Given the description of an element on the screen output the (x, y) to click on. 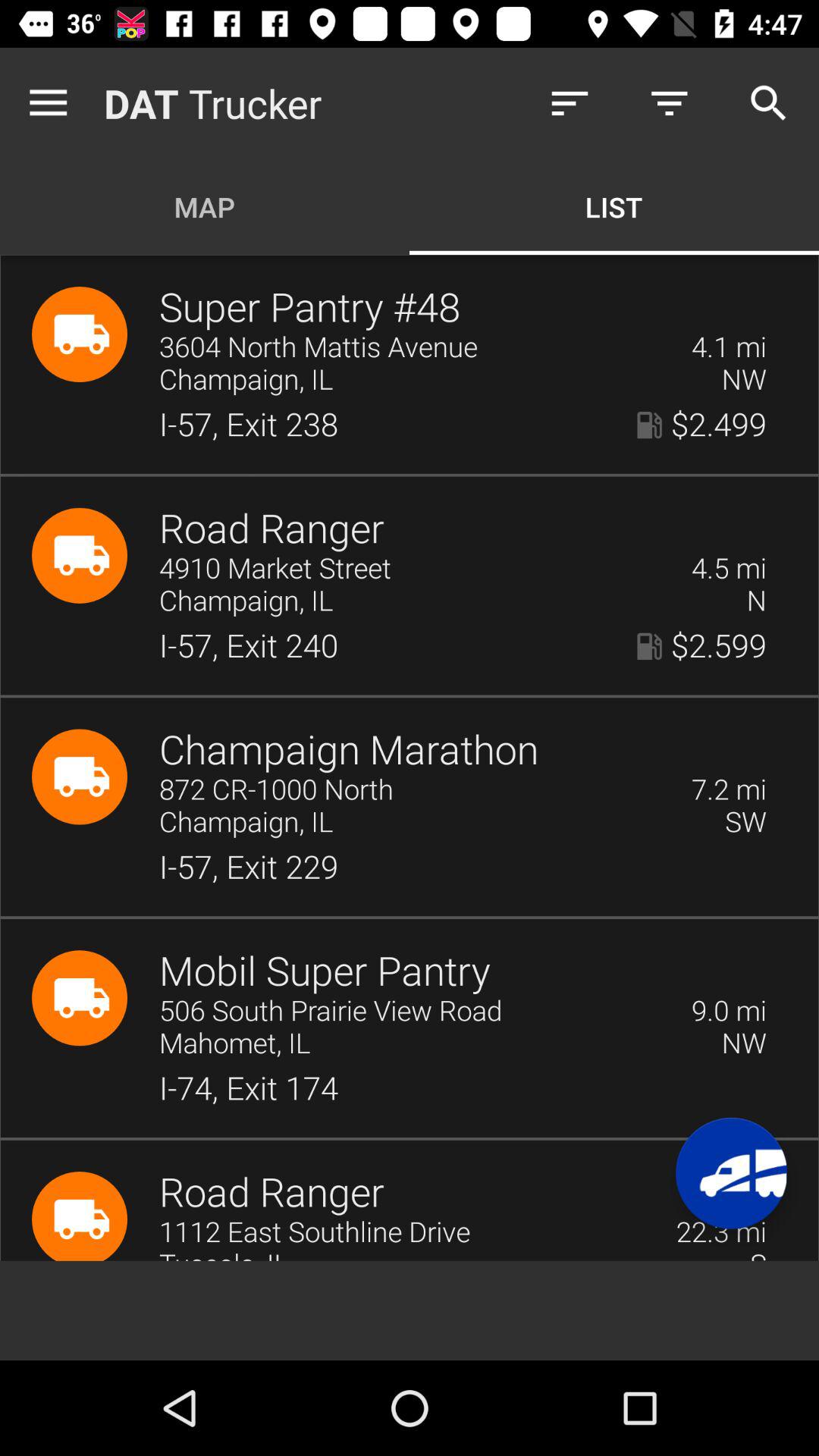
select champaign marathon (348, 750)
